Given the description of an element on the screen output the (x, y) to click on. 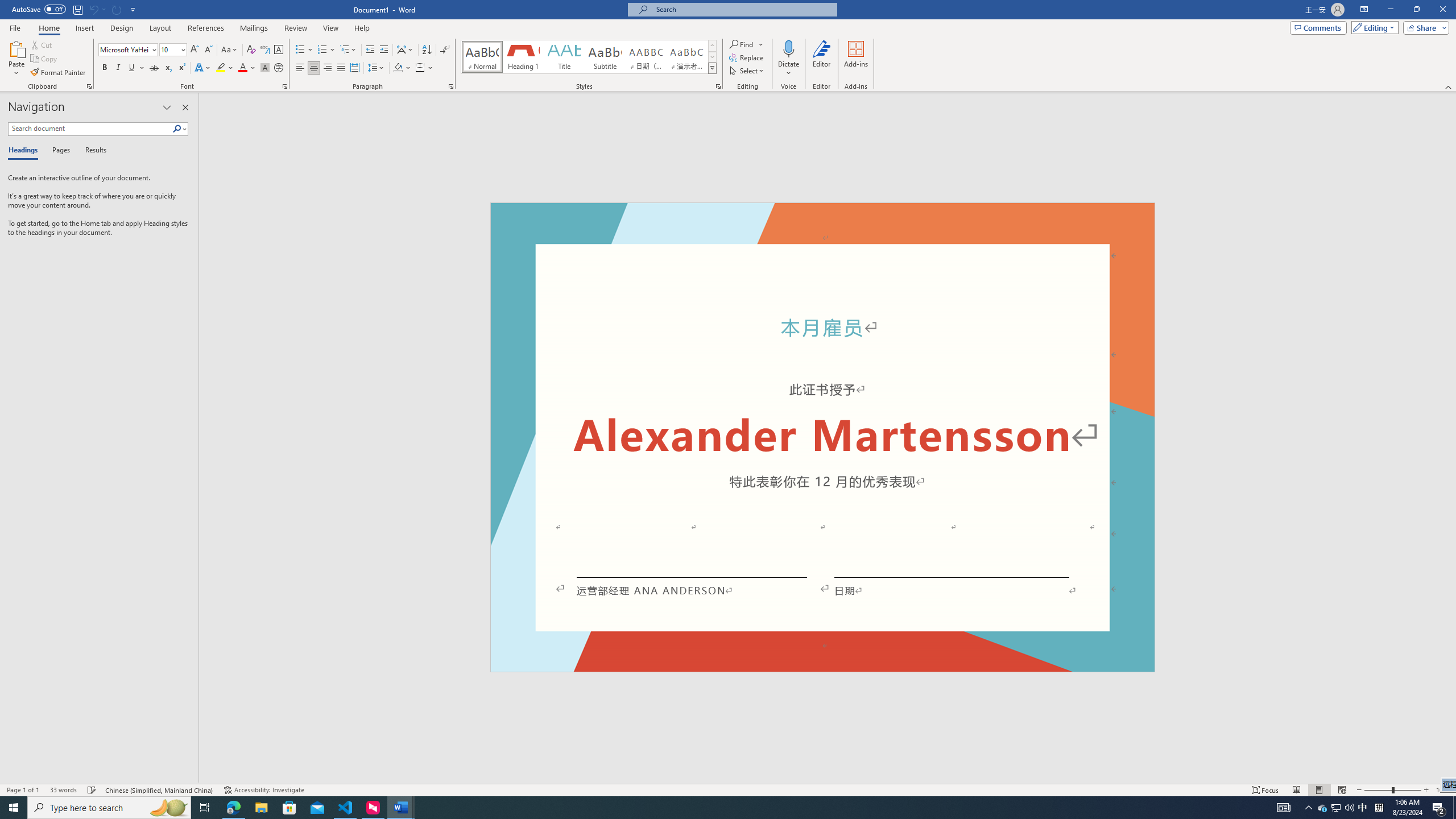
Language Chinese (Simplified, Mainland China) (159, 790)
Shrink Font (208, 49)
Align Left (300, 67)
Mailings (253, 28)
Collapse the Ribbon (1448, 86)
Row up (711, 45)
Can't Undo (96, 9)
